Given the description of an element on the screen output the (x, y) to click on. 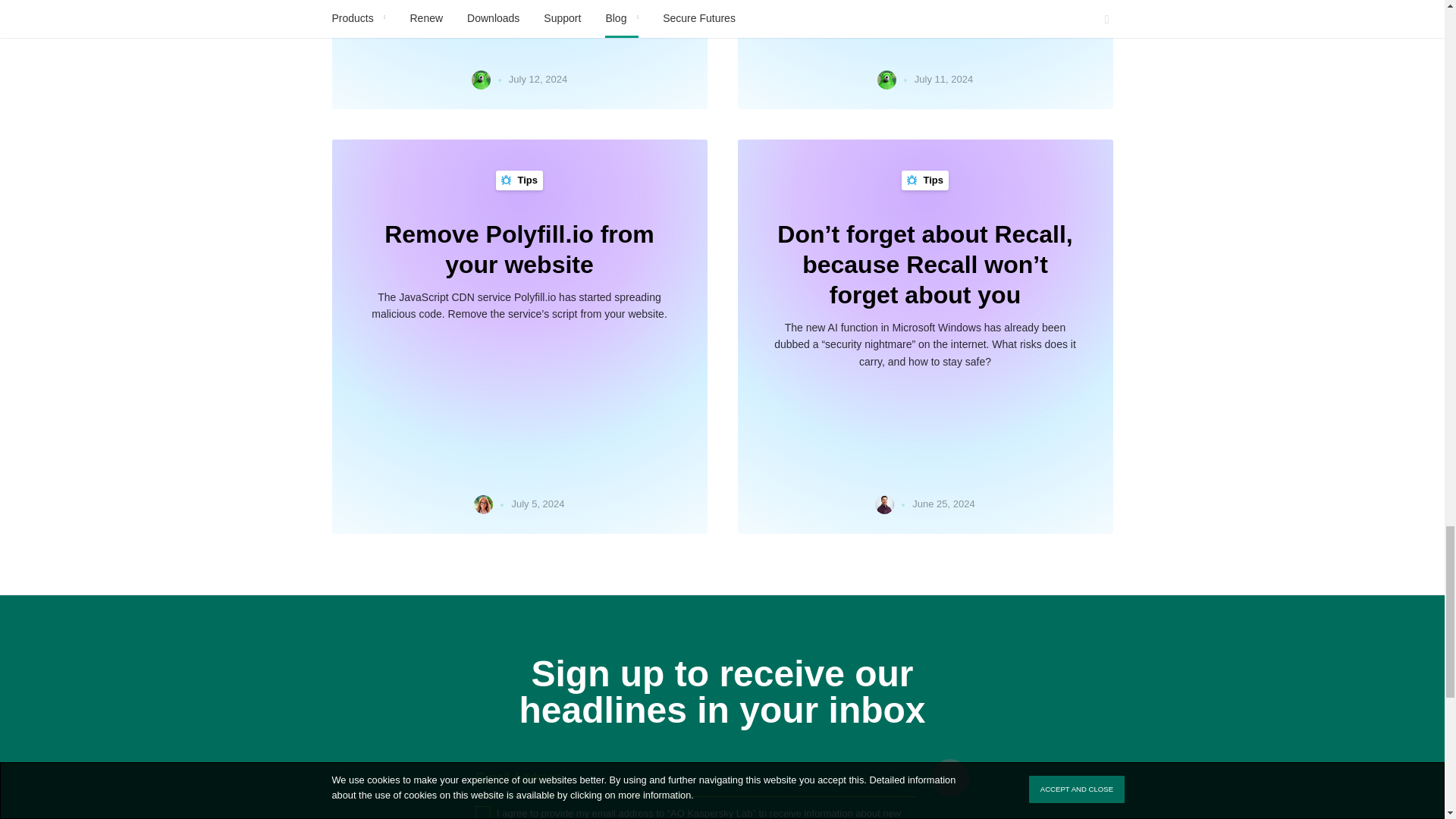
Sign me Up (950, 777)
